Given the description of an element on the screen output the (x, y) to click on. 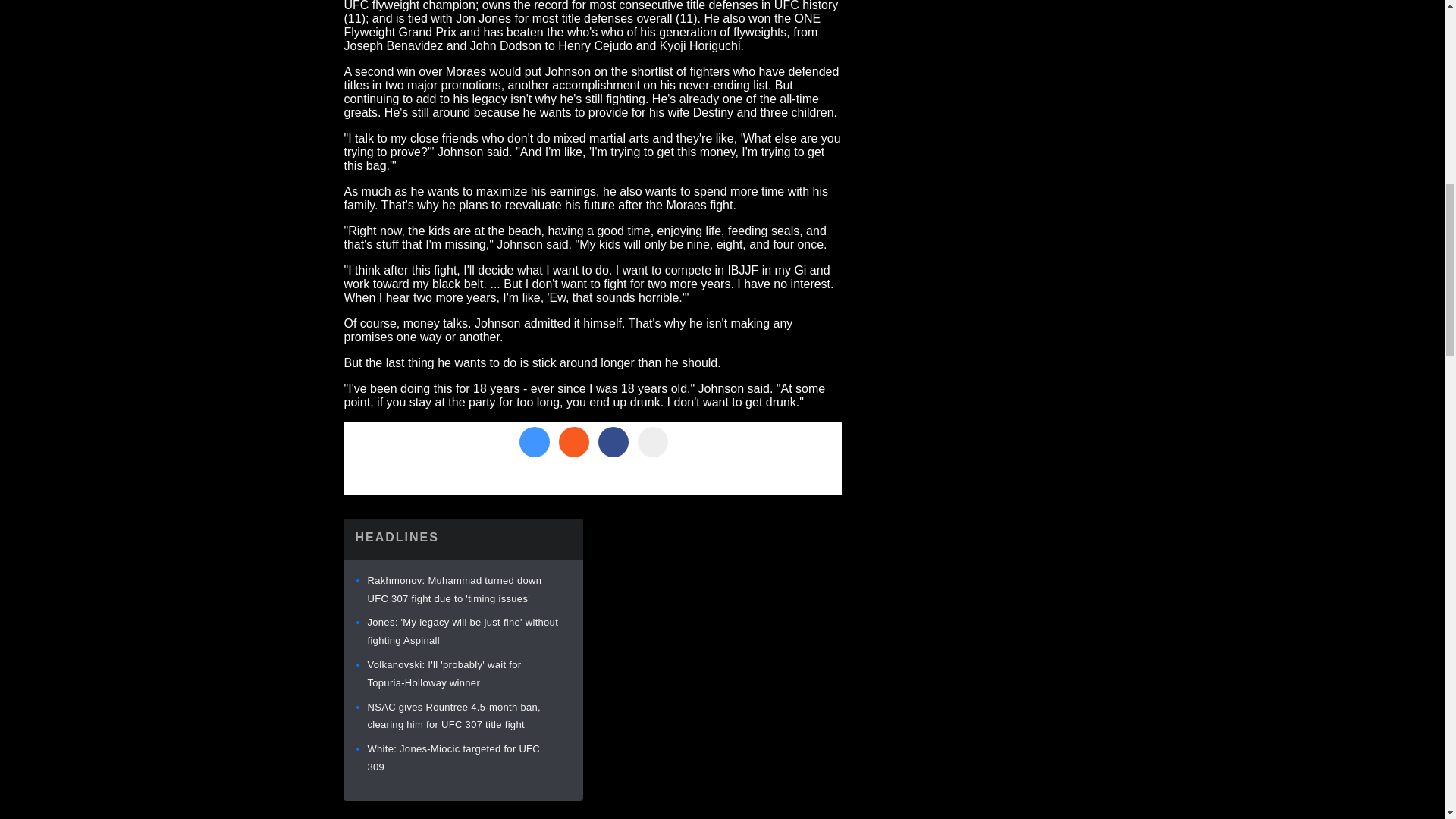
Facebook (611, 441)
Twitter (533, 441)
White: Jones-Miocic targeted for UFC 309 (453, 757)
Reddit (572, 441)
Email (651, 441)
